Given the description of an element on the screen output the (x, y) to click on. 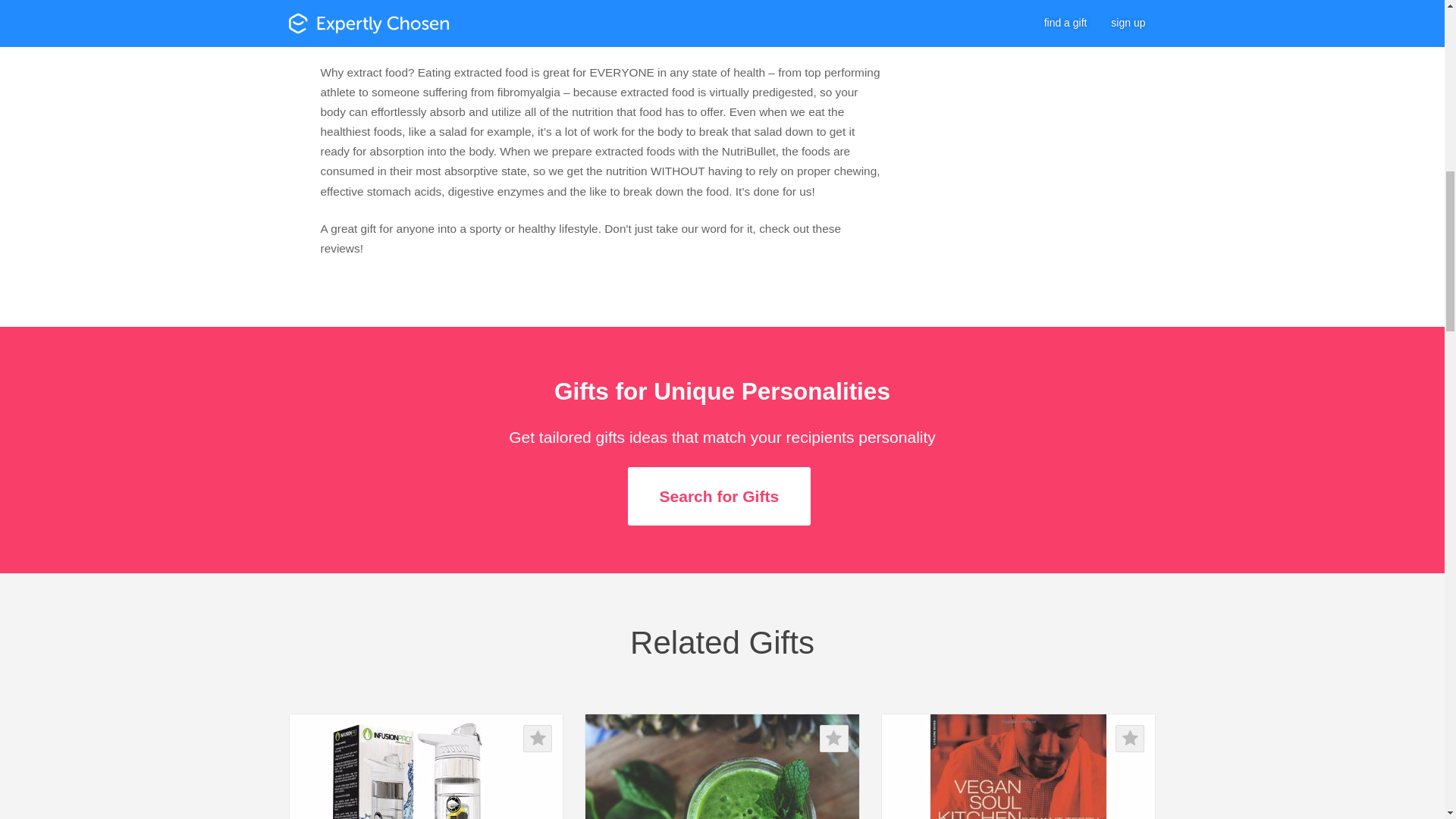
Add to my favorites (1129, 738)
Add to my favorites (833, 738)
Search for Gifts (718, 496)
Add to my favorites (536, 738)
